Given the description of an element on the screen output the (x, y) to click on. 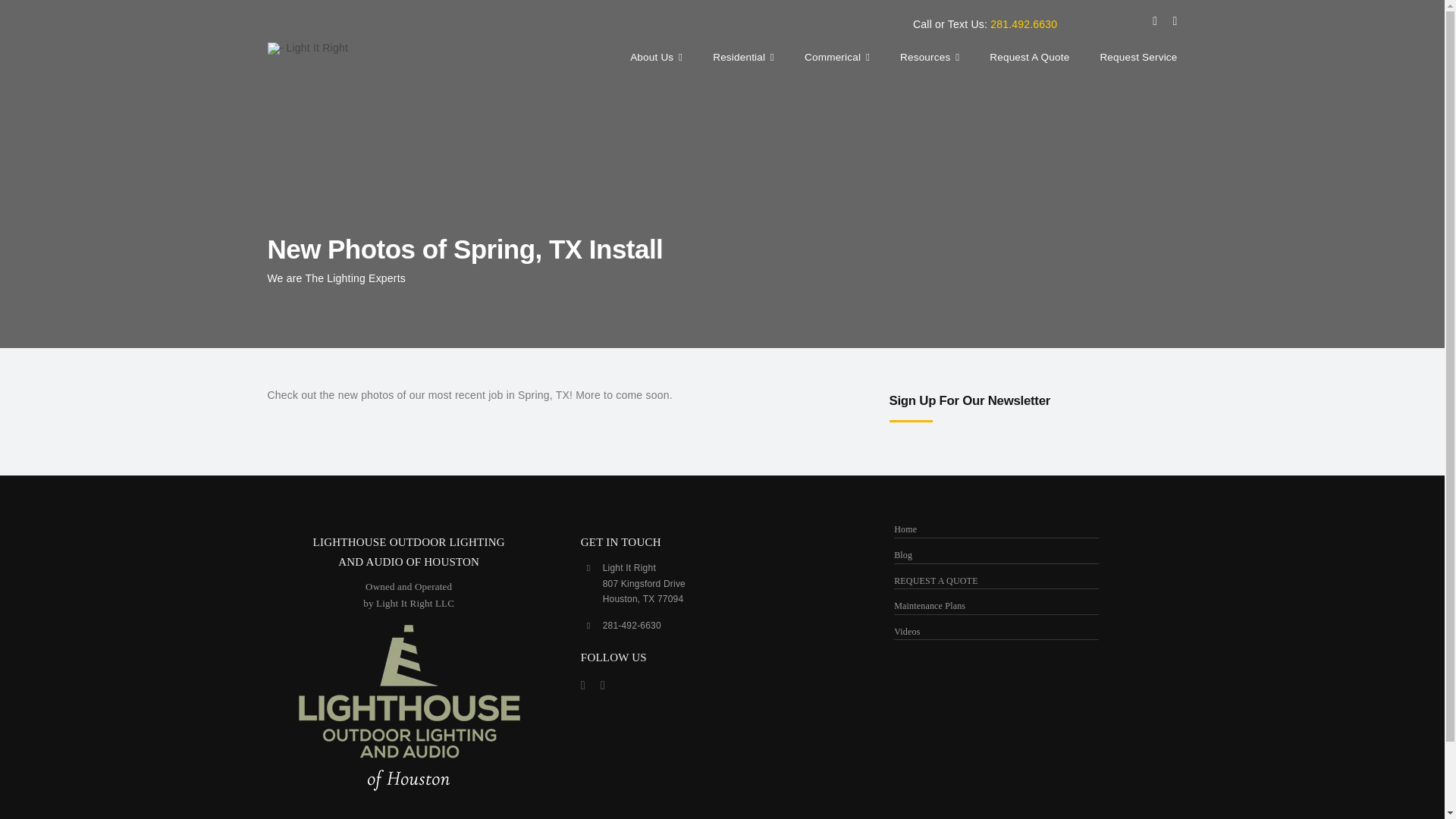
Lighthouse lights houston Light It Right (306, 48)
281.492.6630 (1023, 24)
Houston footer logo Light It Right (408, 710)
Commerical (837, 58)
Request Service (1137, 58)
Resources (929, 58)
Residential (743, 58)
Request A Quote (1029, 58)
About Us (656, 58)
